Given the description of an element on the screen output the (x, y) to click on. 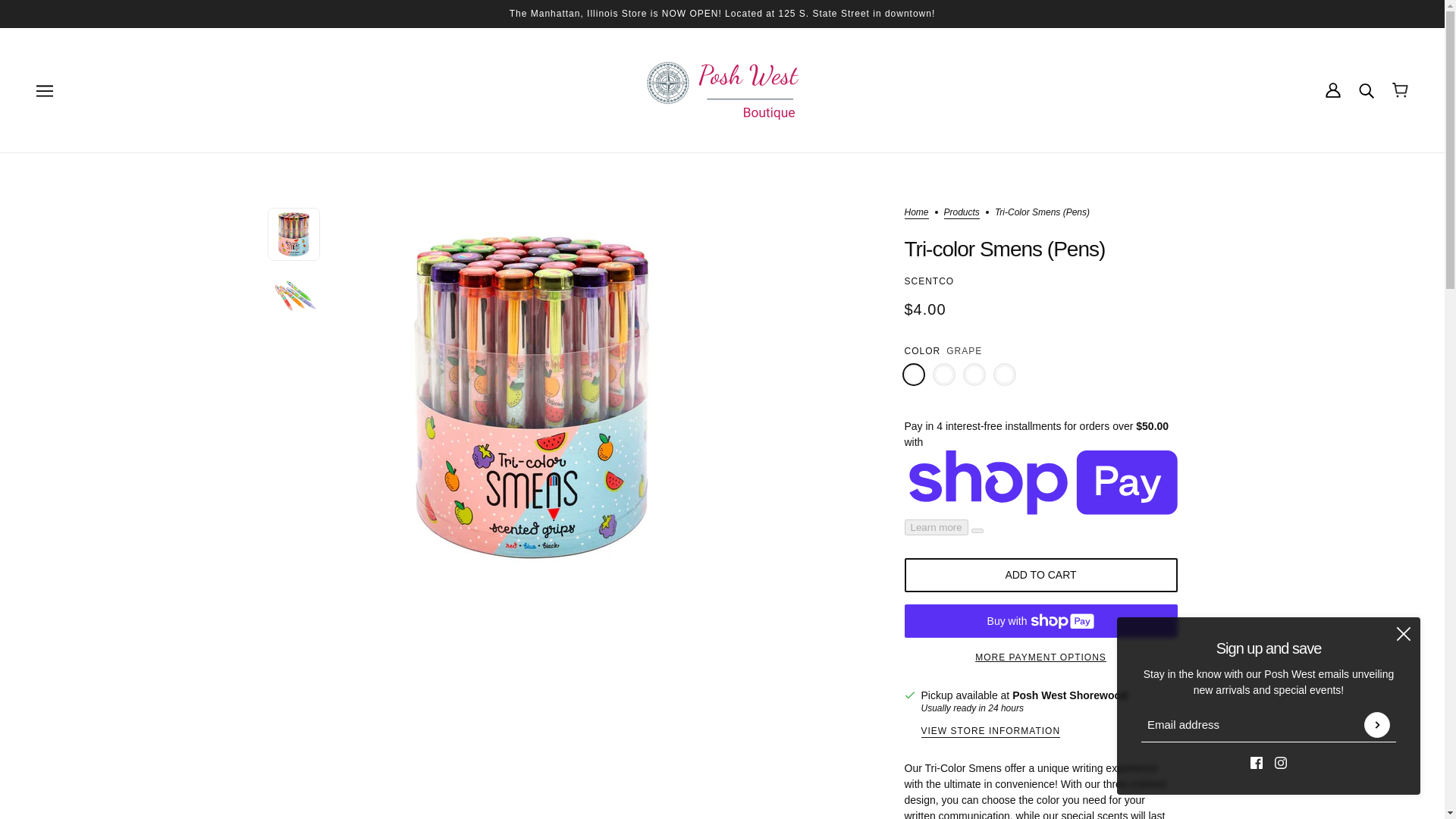
Posh West Boutique (722, 89)
